Given the description of an element on the screen output the (x, y) to click on. 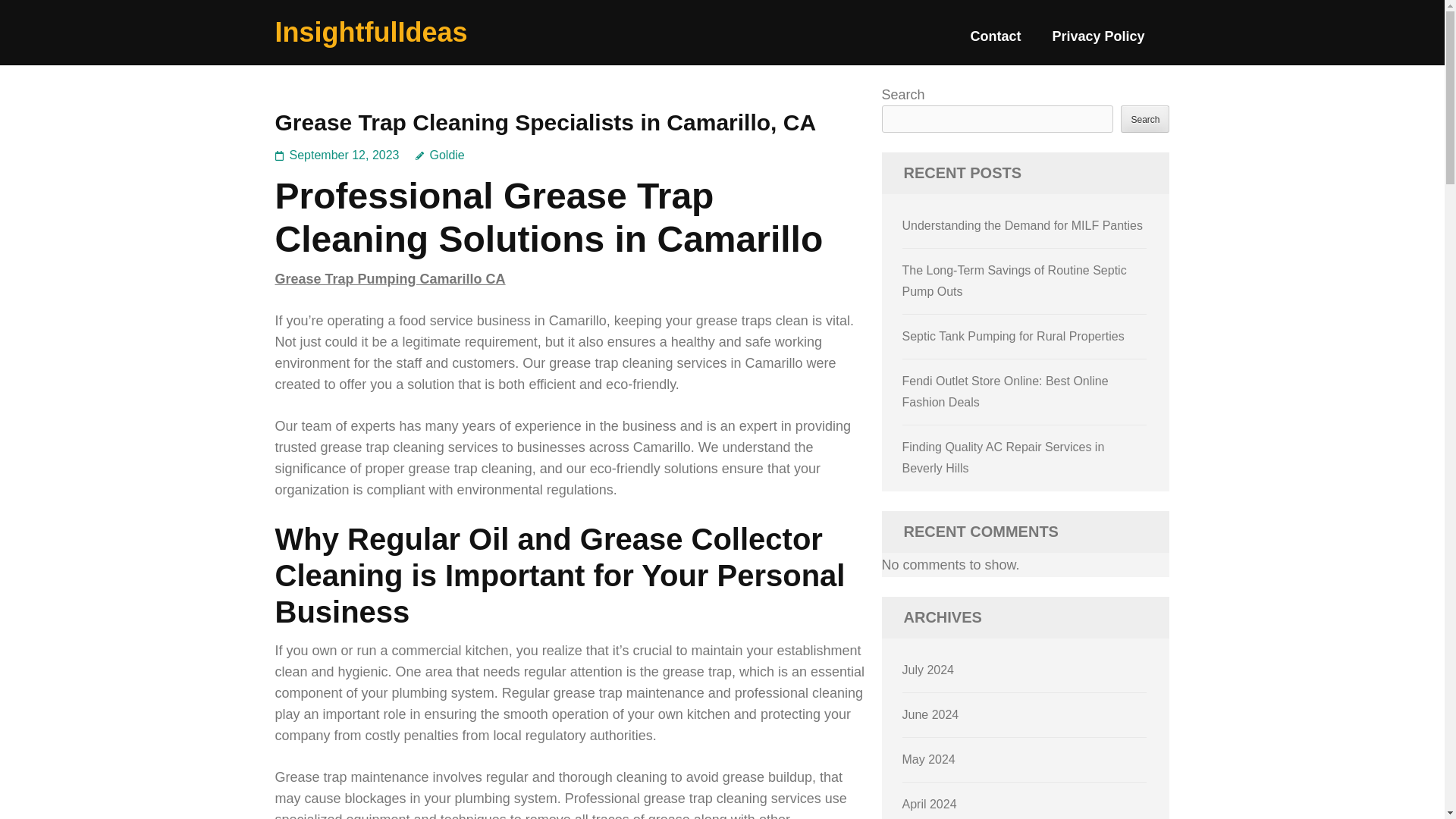
Privacy Policy (1097, 42)
Septic Tank Pumping for Rural Properties (1013, 336)
The Long-Term Savings of Routine Septic Pump Outs (1014, 280)
Grease Trap Pumping Camarillo CA (390, 278)
Search (1145, 118)
June 2024 (930, 714)
Fendi Outlet Store Online: Best Online Fashion Deals (1005, 391)
Goldie (439, 154)
InsightfulIdeas (371, 31)
Understanding the Demand for MILF Panties (1022, 225)
July 2024 (928, 669)
Finding Quality AC Repair Services in Beverly Hills (1003, 457)
Contact (994, 42)
September 12, 2023 (343, 154)
May 2024 (928, 758)
